Given the description of an element on the screen output the (x, y) to click on. 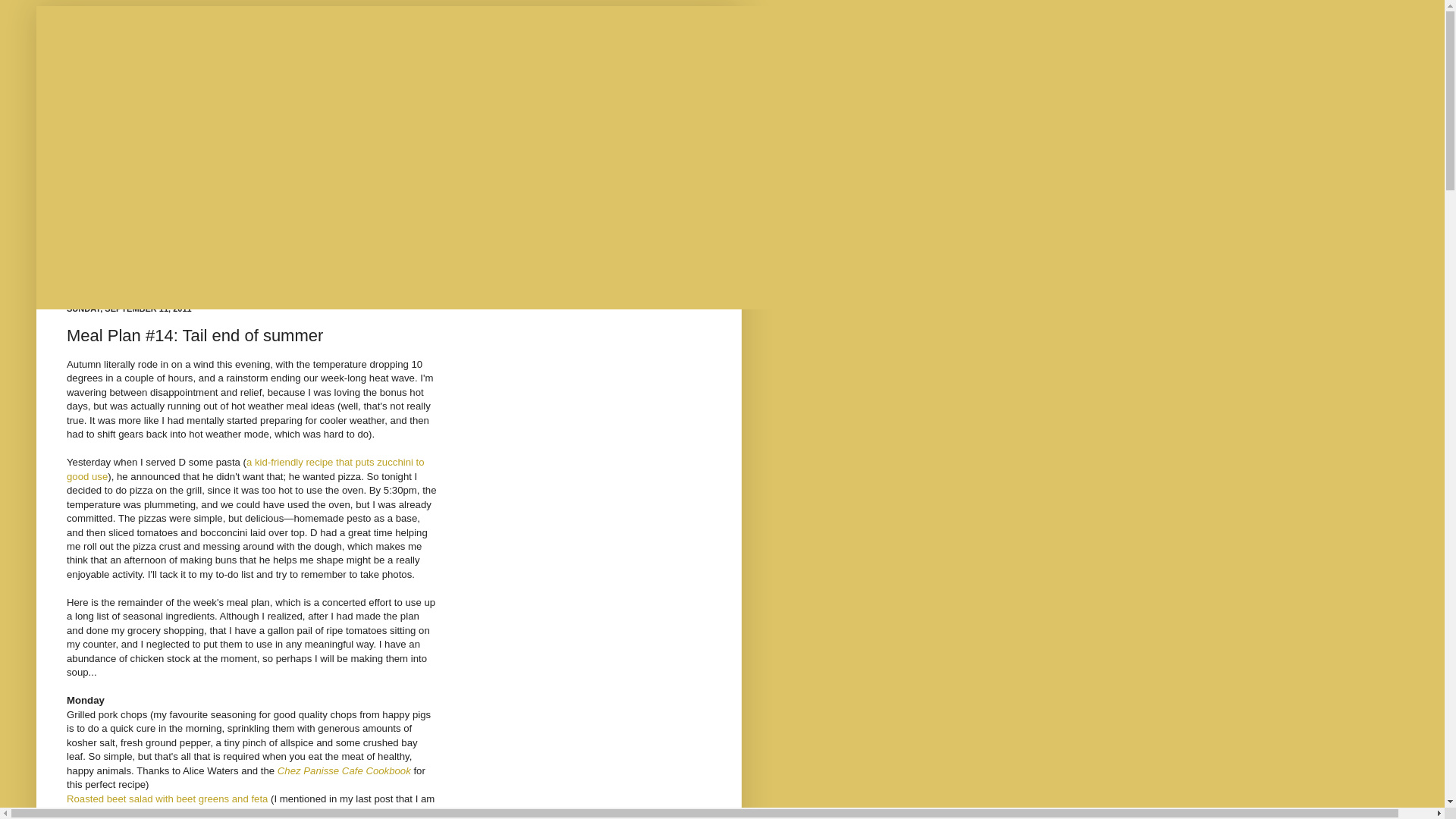
a kid-friendly recipe that puts zucchini to good use Element type: text (245, 468)
Chez Panisse Cafe Cookbook Element type: text (344, 770)
Roasted beet salad with beet greens and feta Element type: text (166, 798)
